Given the description of an element on the screen output the (x, y) to click on. 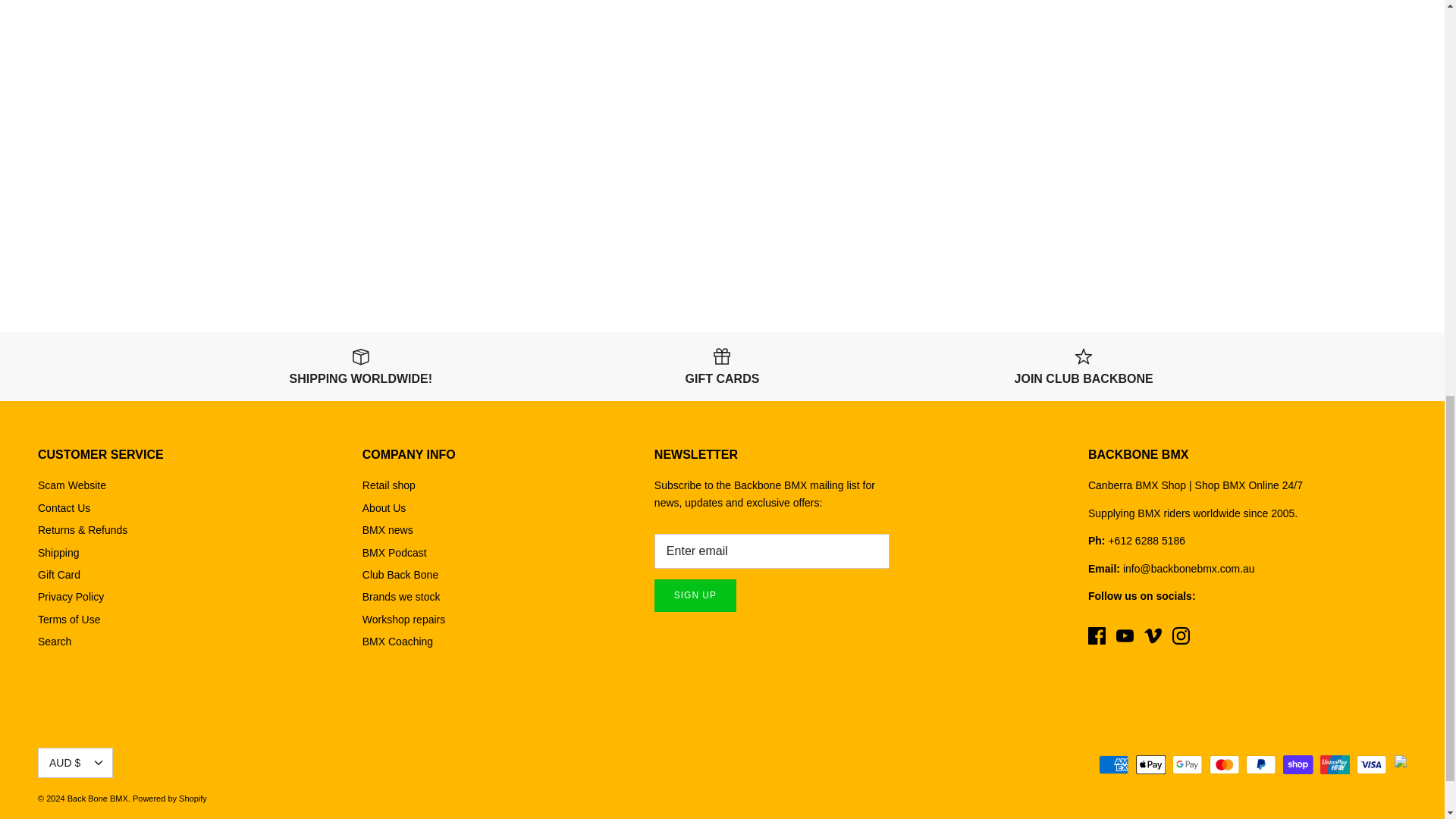
Vimeo (1152, 635)
Facebook (1096, 635)
PayPal (1260, 764)
Instagram (1180, 635)
Mastercard (1224, 764)
tel:61262885186 (1150, 540)
Google Pay (1187, 764)
Union Pay (1334, 764)
Apple Pay (1150, 764)
Down (97, 762)
